Given the description of an element on the screen output the (x, y) to click on. 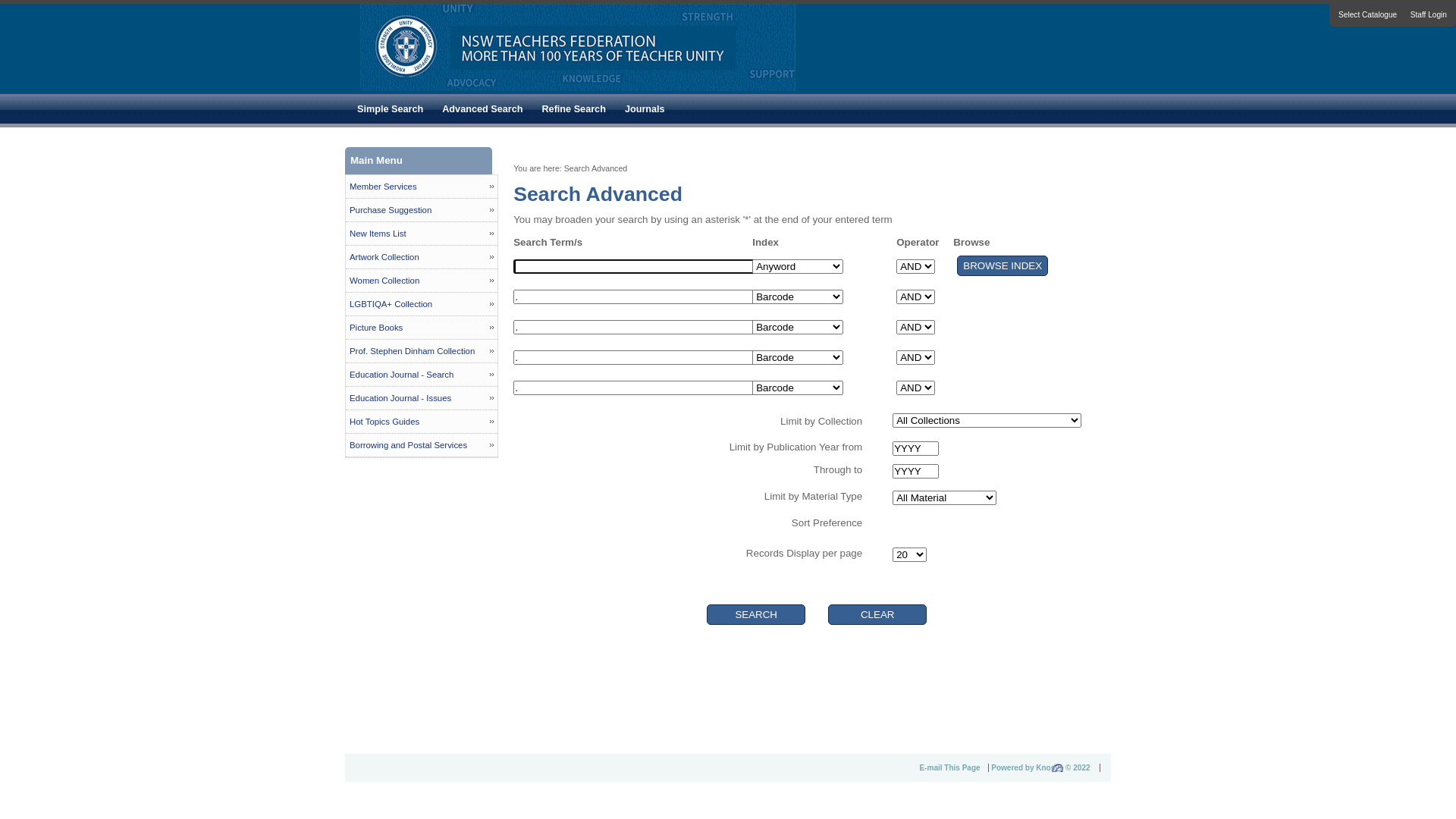
Journals Element type: text (643, 109)
Education Journal - Issues Element type: text (421, 398)
E-mail This Page Element type: text (953, 767)
Picture Books Element type: text (421, 327)
Women Collection Element type: text (421, 280)
Artwork Collection Element type: text (421, 257)
Prof. Stephen Dinham Collection Element type: text (421, 351)
Refine Search Element type: text (571, 109)
BROWSE INDEX Element type: text (1002, 356)
SEARCH Element type: text (542, 239)
Education Journal - Search Element type: text (421, 374)
Member Services Element type: text (421, 186)
LGBTIQA+ Collection Element type: text (421, 304)
NSW Teachers Federation Library Element type: hover (573, 87)
Alt-2 Element type: hover (877, 614)
Borrowing and Postal Services Element type: text (421, 445)
Alt-1 Element type: hover (755, 614)
Simple Search Element type: text (388, 109)
Advanced Search Element type: text (480, 109)
Staff Login Element type: text (1428, 14)
New Items List Element type: text (421, 233)
Purchase Suggestion Element type: text (421, 210)
Select Catalogue Element type: text (1367, 14)
BROWSE INDEX Element type: text (1002, 326)
BROWSE INDEX Element type: text (1002, 265)
BROWSE INDEX Element type: text (1002, 295)
SEARCH Element type: text (755, 614)
BROWSE INDEX Element type: text (1002, 386)
Hot Topics Guides Element type: text (421, 421)
